Given the description of an element on the screen output the (x, y) to click on. 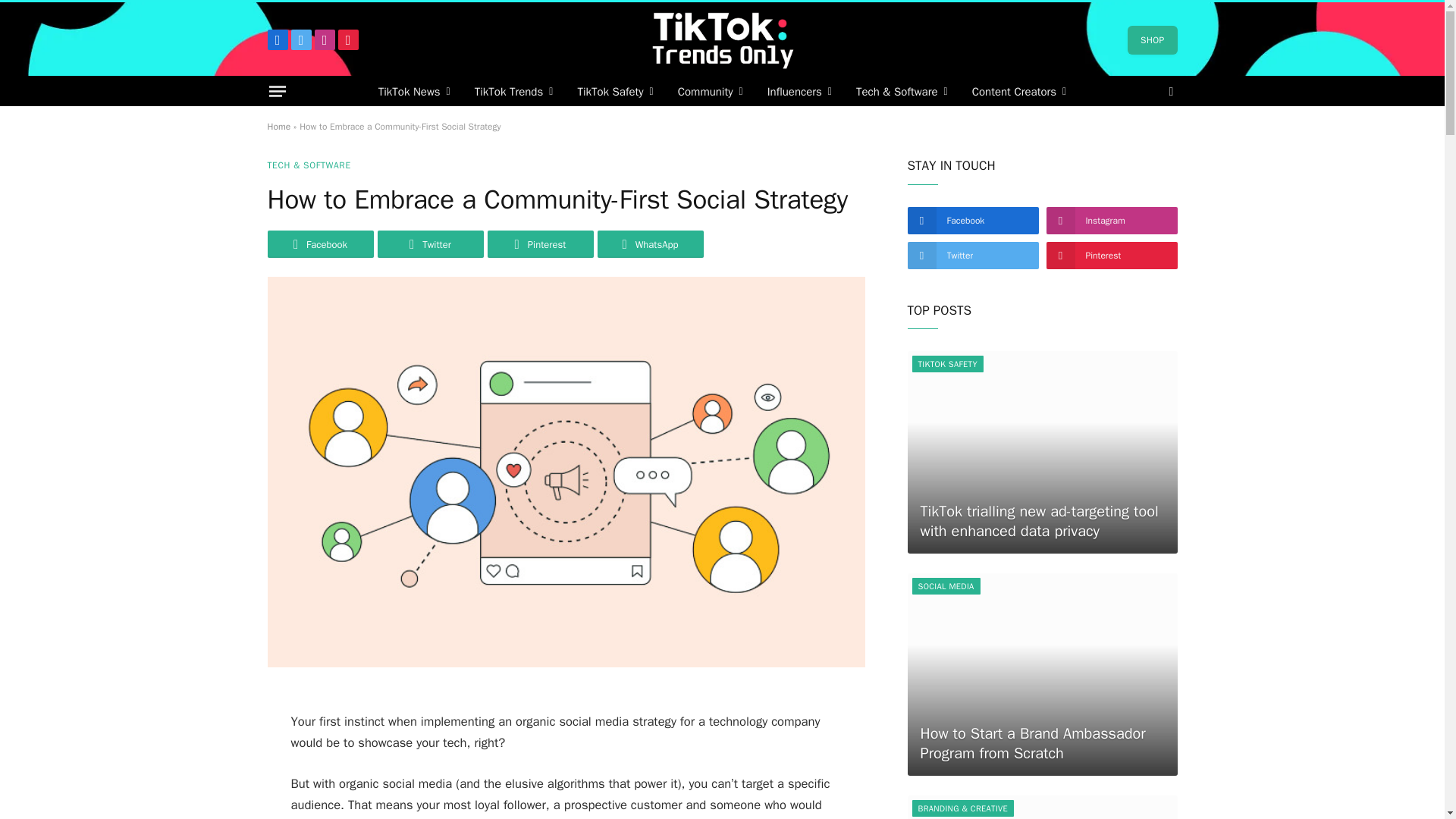
Pinterest (347, 39)
TikTok Trends Only (721, 39)
Facebook (276, 39)
SHOP (1151, 39)
TikTok Trends (514, 91)
TikTok News (414, 91)
Instagram (324, 39)
